Given the description of an element on the screen output the (x, y) to click on. 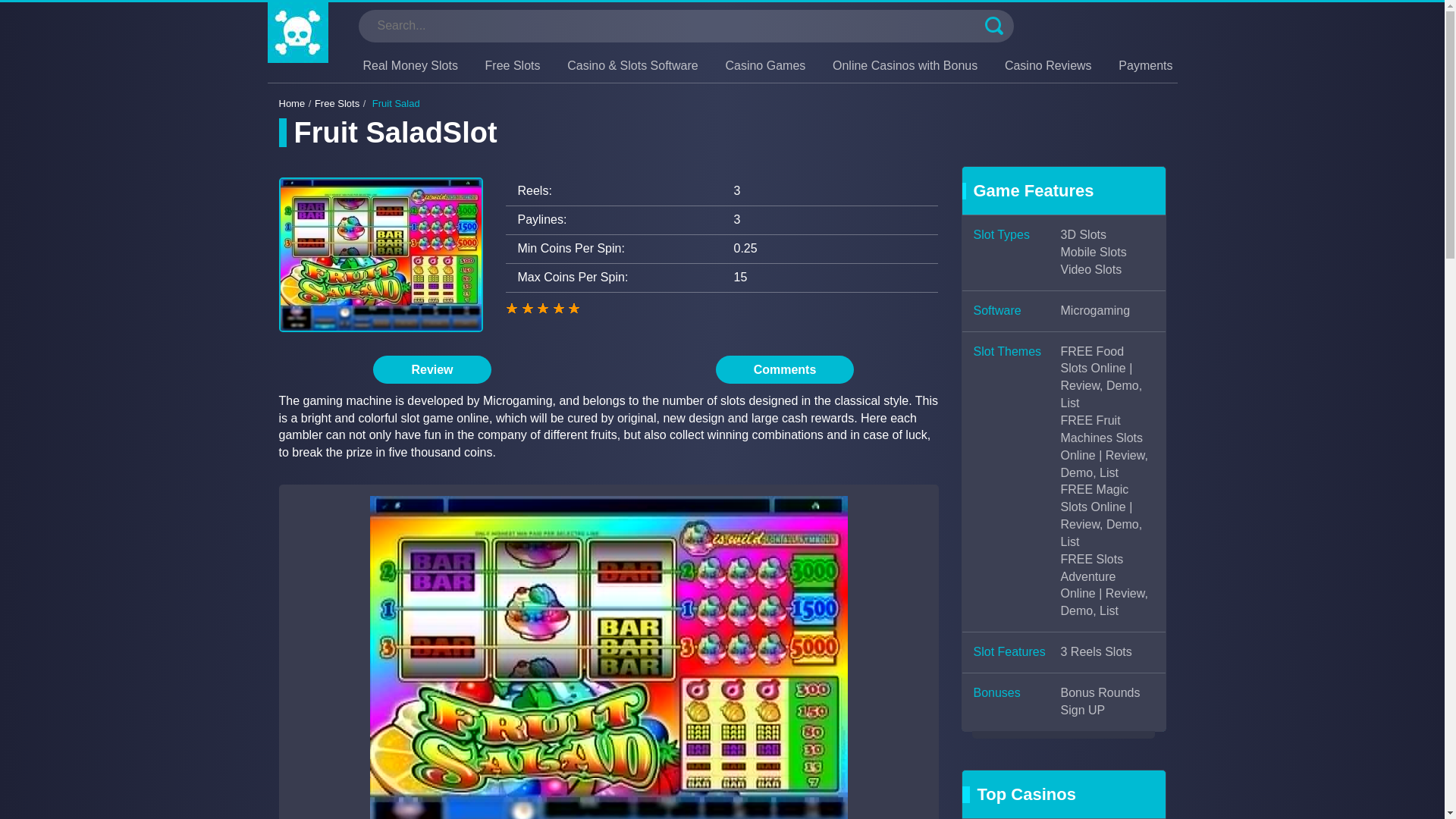
Real Money Slots (409, 65)
Free Slots (512, 65)
Casino Games (765, 65)
Payments (1145, 65)
Online Casinos with Bonus (904, 65)
Casino Reviews (1048, 65)
